Given the description of an element on the screen output the (x, y) to click on. 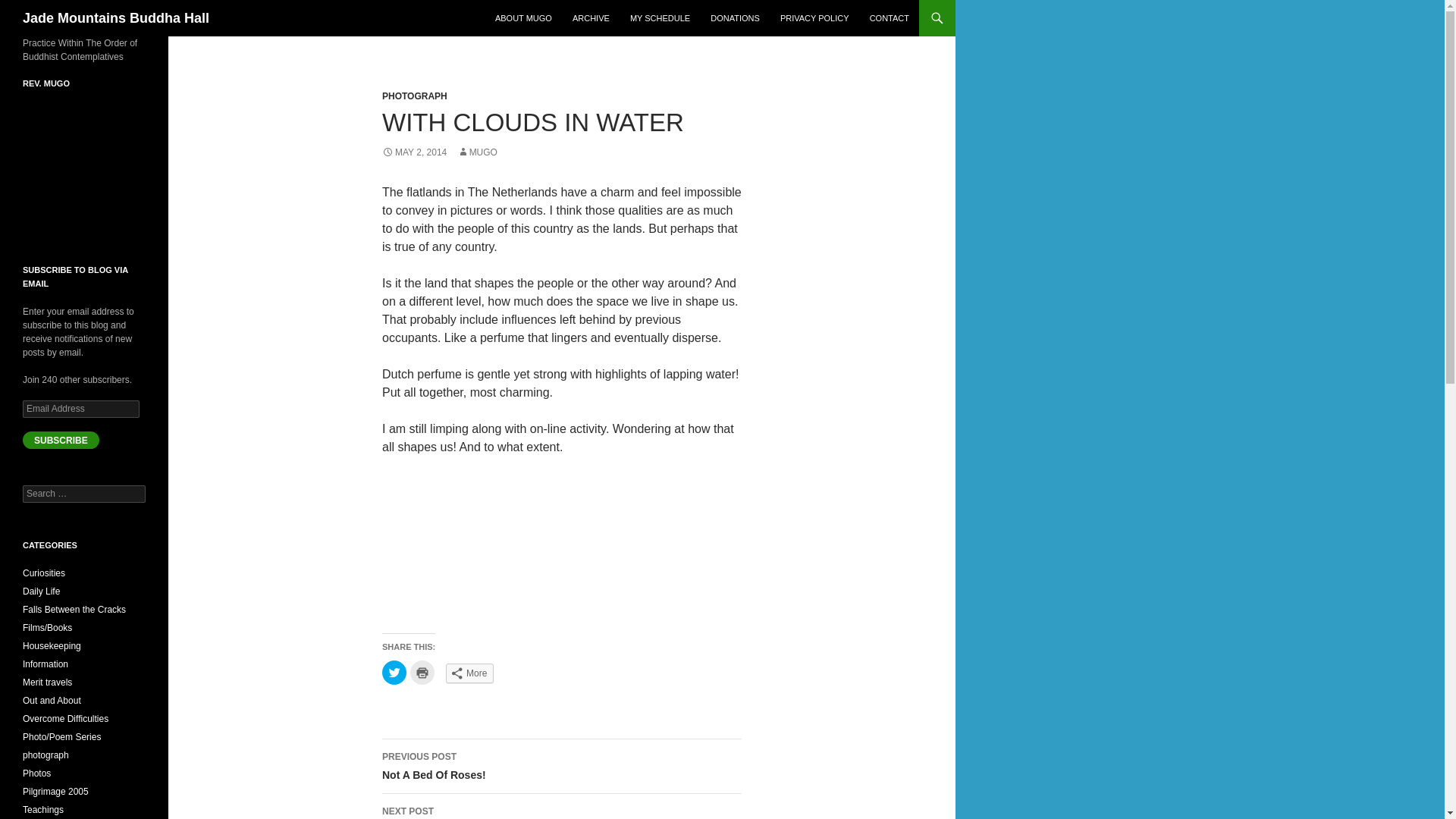
SUBSCRIBE (561, 766)
Merit travels (61, 439)
Photographs taken by Rev. Mugo. (47, 682)
MAY 2, 2014 (36, 773)
Search (413, 152)
Information (30, 8)
ABOUT MUGO (45, 664)
ARCHIVE (523, 18)
Daily Life (590, 18)
Jade Mountains Buddha Hall (41, 591)
MY SCHEDULE (116, 18)
More (659, 18)
PHOTOGRAPH (469, 673)
Out and About (413, 95)
